Given the description of an element on the screen output the (x, y) to click on. 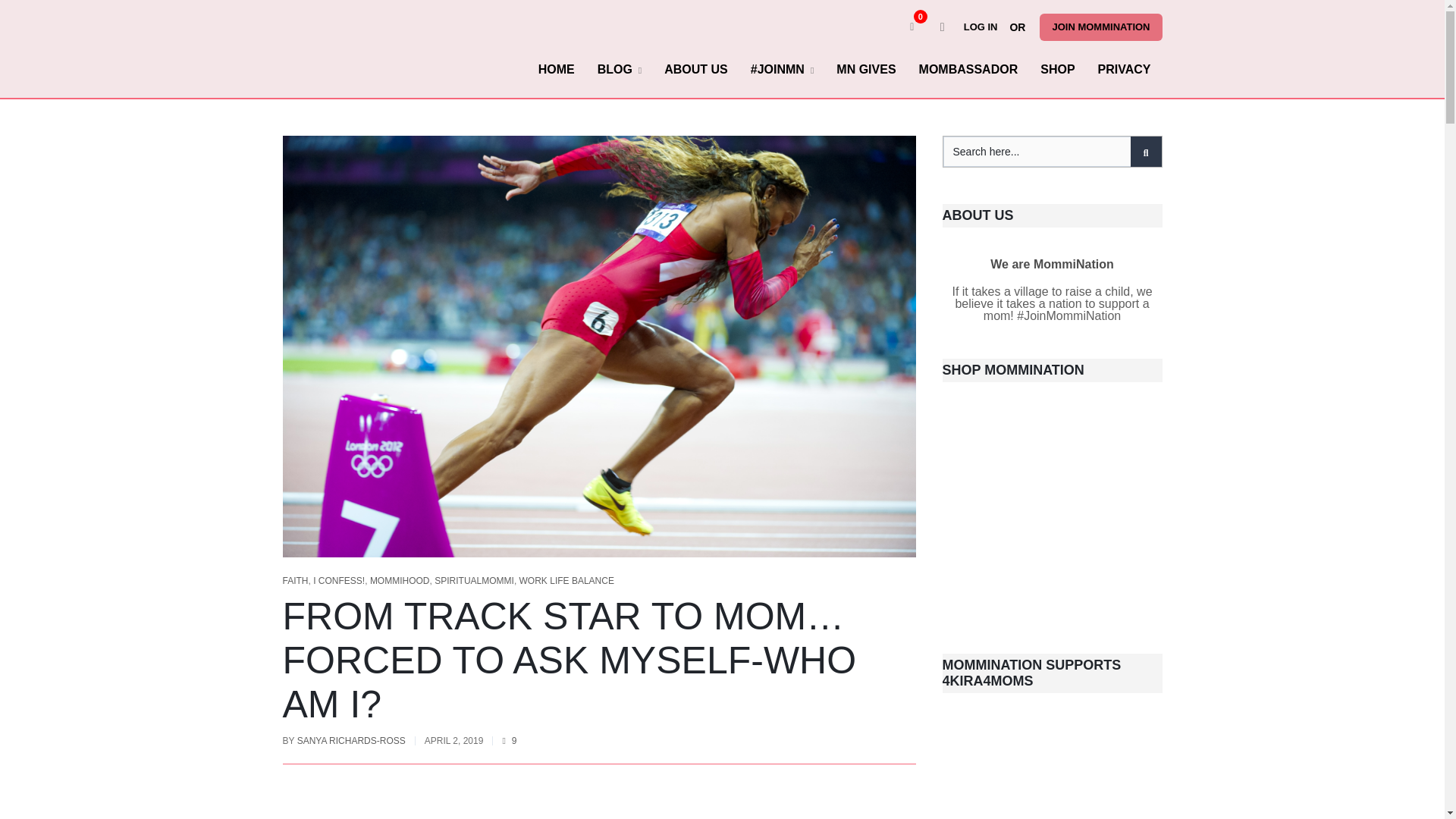
SHOP (1057, 68)
View all posts in MommiHood (399, 580)
JOIN MOMMINATION (1100, 26)
View all posts in SpiritualMommi (473, 580)
HOME (556, 68)
LOG IN (984, 26)
Search here... (1052, 151)
0 (911, 26)
BLOG (619, 68)
View all posts in Work Life Balance (566, 580)
View all posts in Faith (294, 580)
PRIVACY (1123, 68)
Posts by Sanya Richards-Ross (351, 740)
View all posts in I confess! (339, 580)
Search here... (1052, 151)
